Given the description of an element on the screen output the (x, y) to click on. 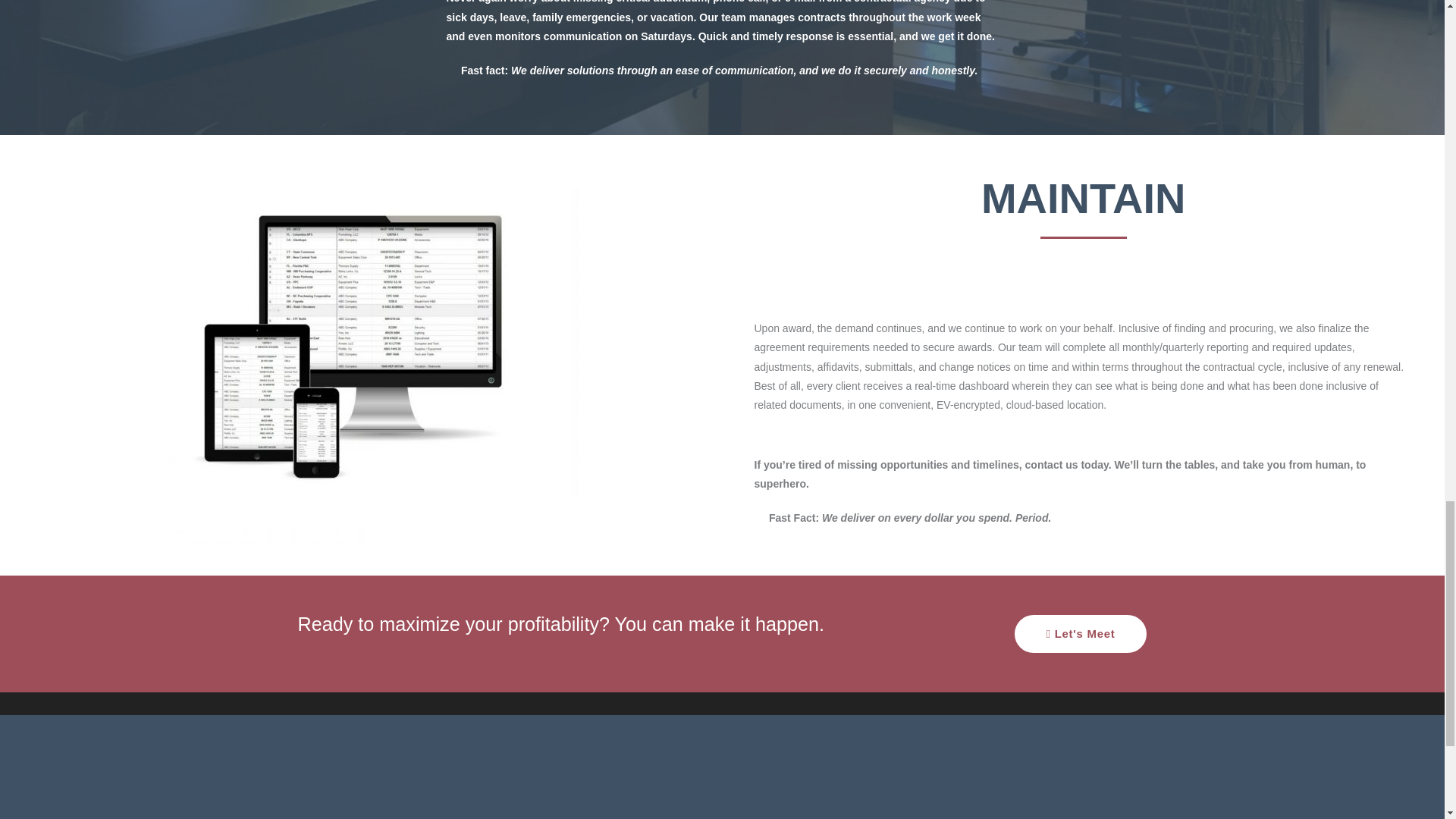
Let's Meet (1080, 633)
